Given the description of an element on the screen output the (x, y) to click on. 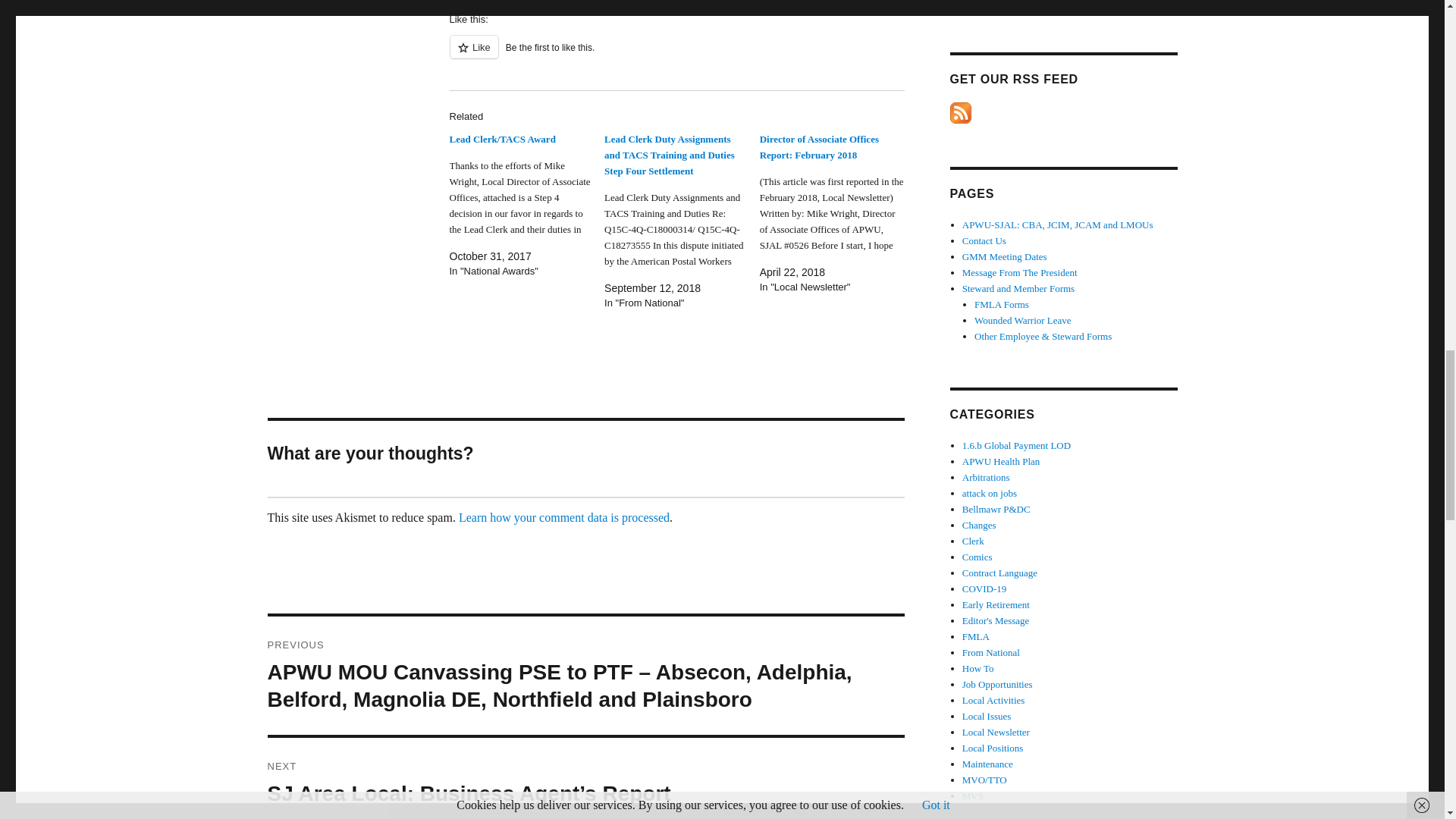
Director of Associate Offices Report: February 2018 (819, 146)
Learn how your comment data is processed (563, 517)
Director of Associate Offices Report: February 2018 (819, 146)
Subscribe to posts (960, 112)
Director of Associate Offices Report: February 2018 (837, 213)
Like or Reblog (676, 55)
